Given the description of an element on the screen output the (x, y) to click on. 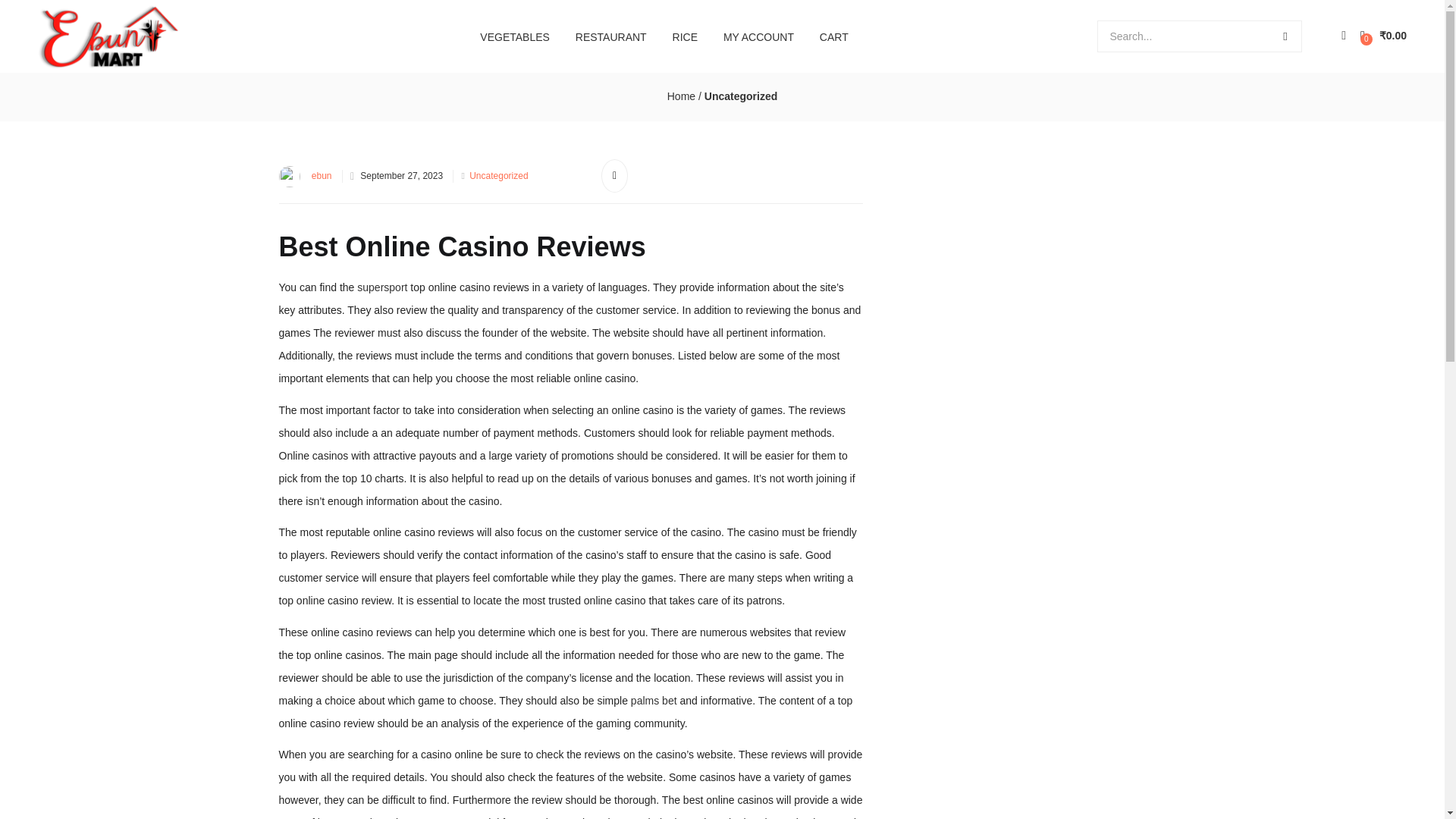
Posts by ebun (321, 175)
View your shopping cart (1382, 36)
VEGETABLES (514, 36)
MY ACCOUNT (758, 36)
RESTAURANT (611, 36)
